Given the description of an element on the screen output the (x, y) to click on. 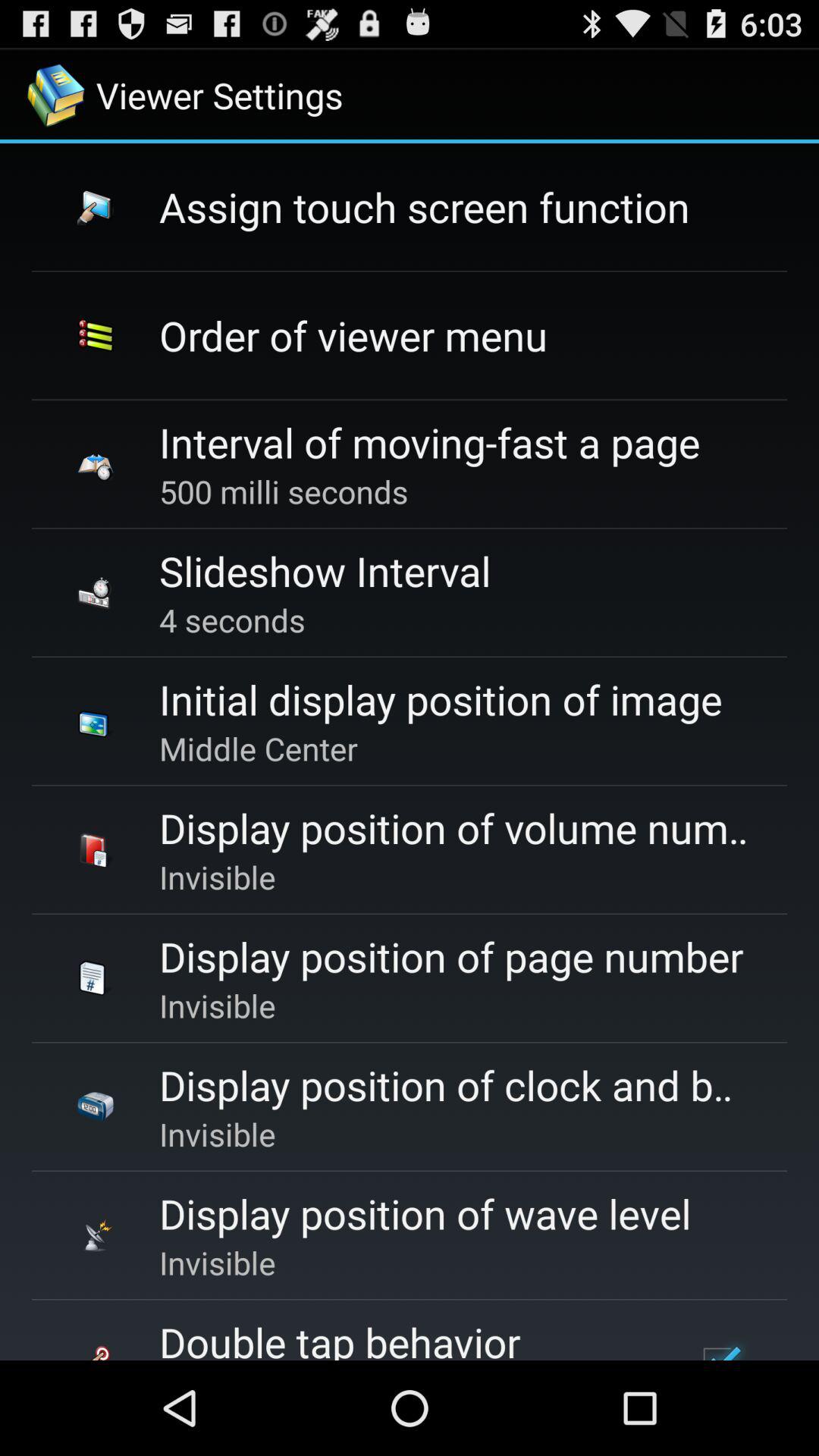
jump to middle center item (258, 748)
